Given the description of an element on the screen output the (x, y) to click on. 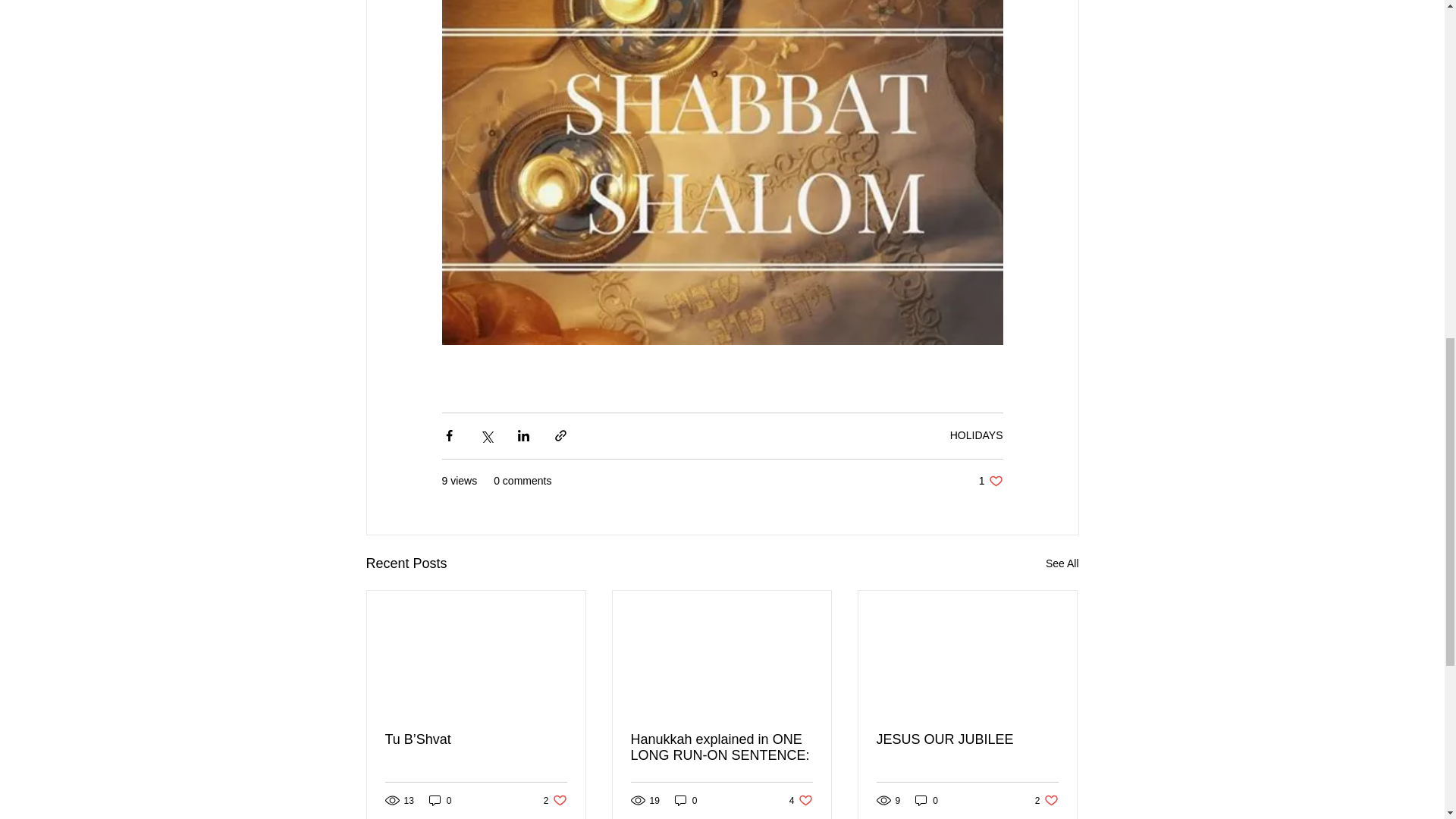
0 (440, 800)
See All (1061, 563)
Hanukkah explained in ONE LONG RUN-ON SENTENCE: (721, 747)
0 (1046, 800)
JESUS OUR JUBILEE (926, 800)
0 (990, 481)
HOLIDAYS (967, 739)
